Given the description of an element on the screen output the (x, y) to click on. 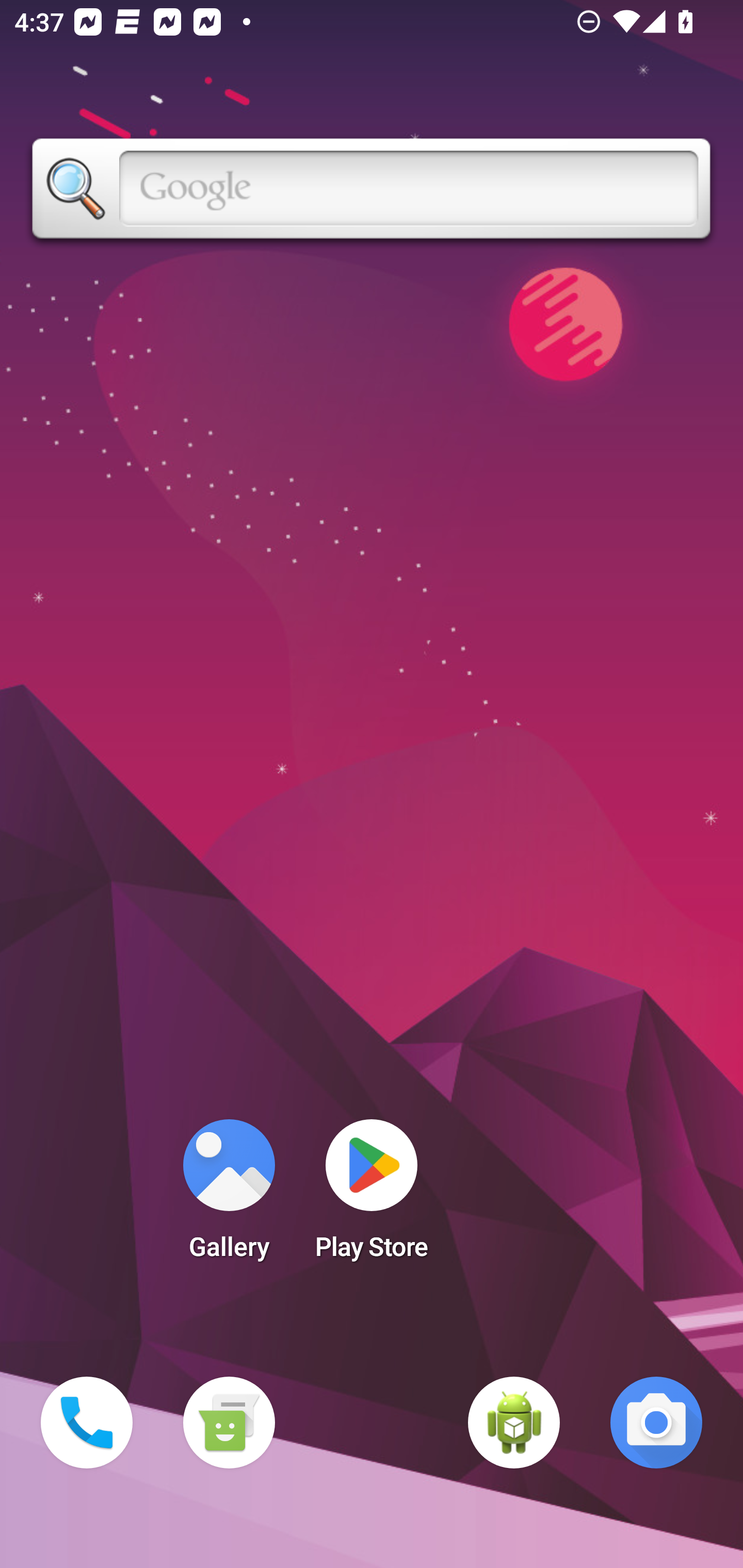
Gallery (228, 1195)
Play Store (371, 1195)
Phone (86, 1422)
Messaging (228, 1422)
WebView Browser Tester (513, 1422)
Camera (656, 1422)
